Given the description of an element on the screen output the (x, y) to click on. 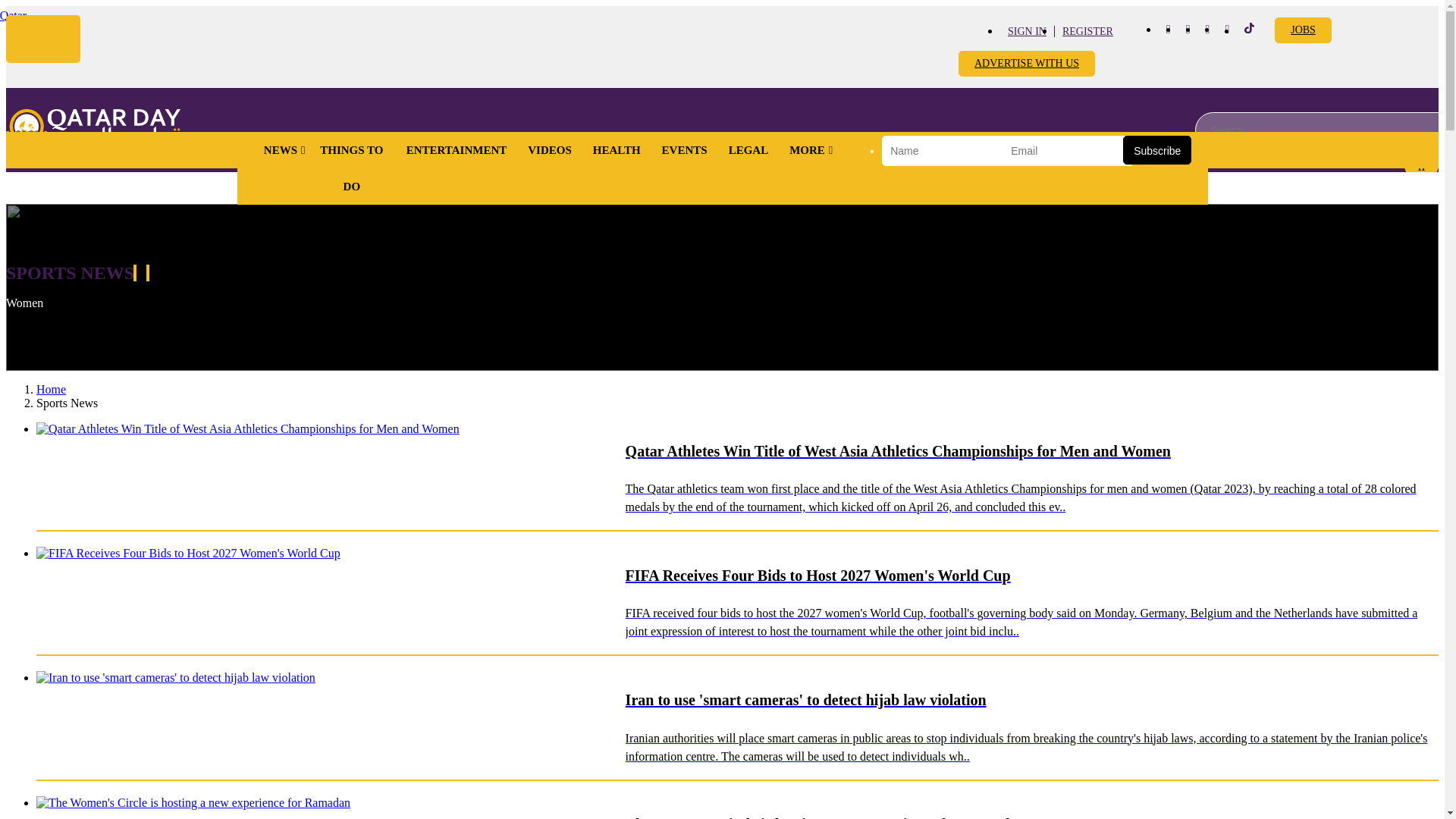
JOBS (1303, 30)
Tiktok (1249, 30)
EVENTS (683, 149)
VIDEOS (549, 149)
LEGAL (747, 149)
Instagram (1187, 29)
Facebook (1167, 29)
Advertise (1026, 63)
HEALTH (616, 149)
Advertise (1303, 30)
